Given the description of an element on the screen output the (x, y) to click on. 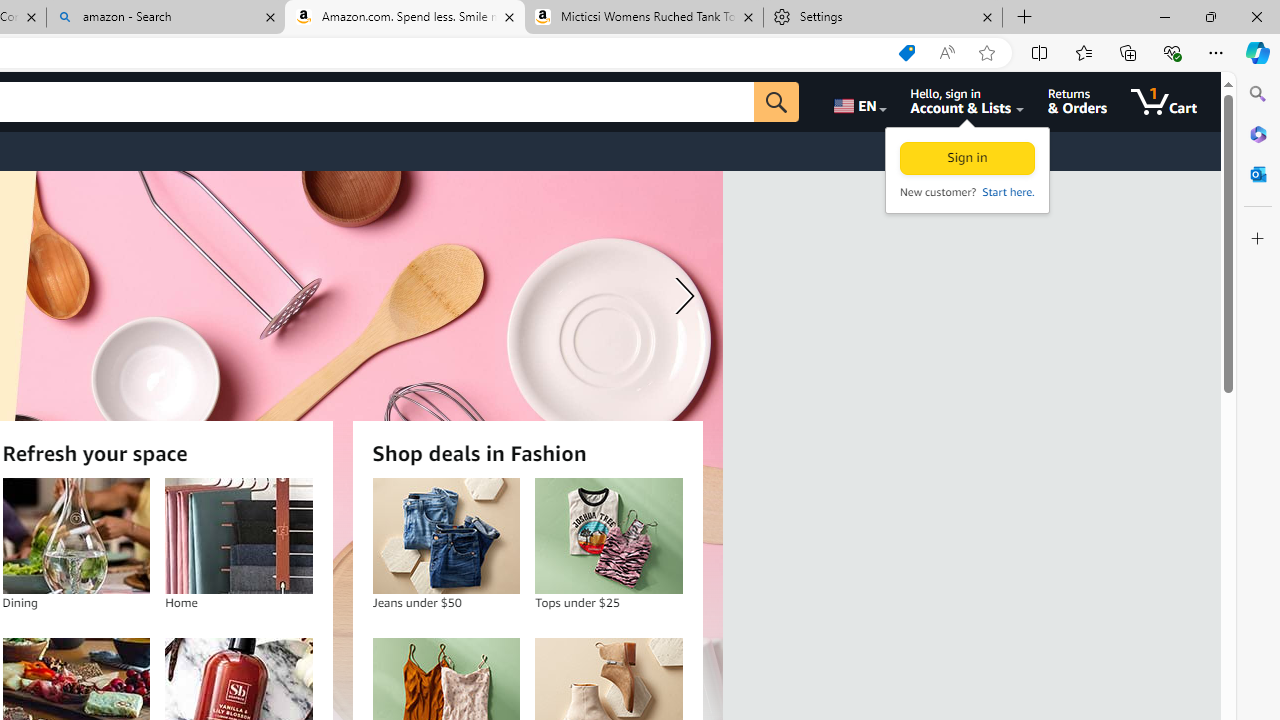
Search (1258, 94)
Settings (883, 17)
Close tab (987, 16)
Start here. (1007, 191)
Shopping in Microsoft Edge (906, 53)
Settings and more (Alt+F) (1215, 52)
amazon - Search (166, 17)
Next slide (680, 296)
Tops under $25 (608, 536)
Add this page to favorites (Ctrl+D) (986, 53)
Home (238, 536)
Returns & Orders (1077, 101)
Favorites (1083, 52)
1 item in cart (1163, 101)
